Given the description of an element on the screen output the (x, y) to click on. 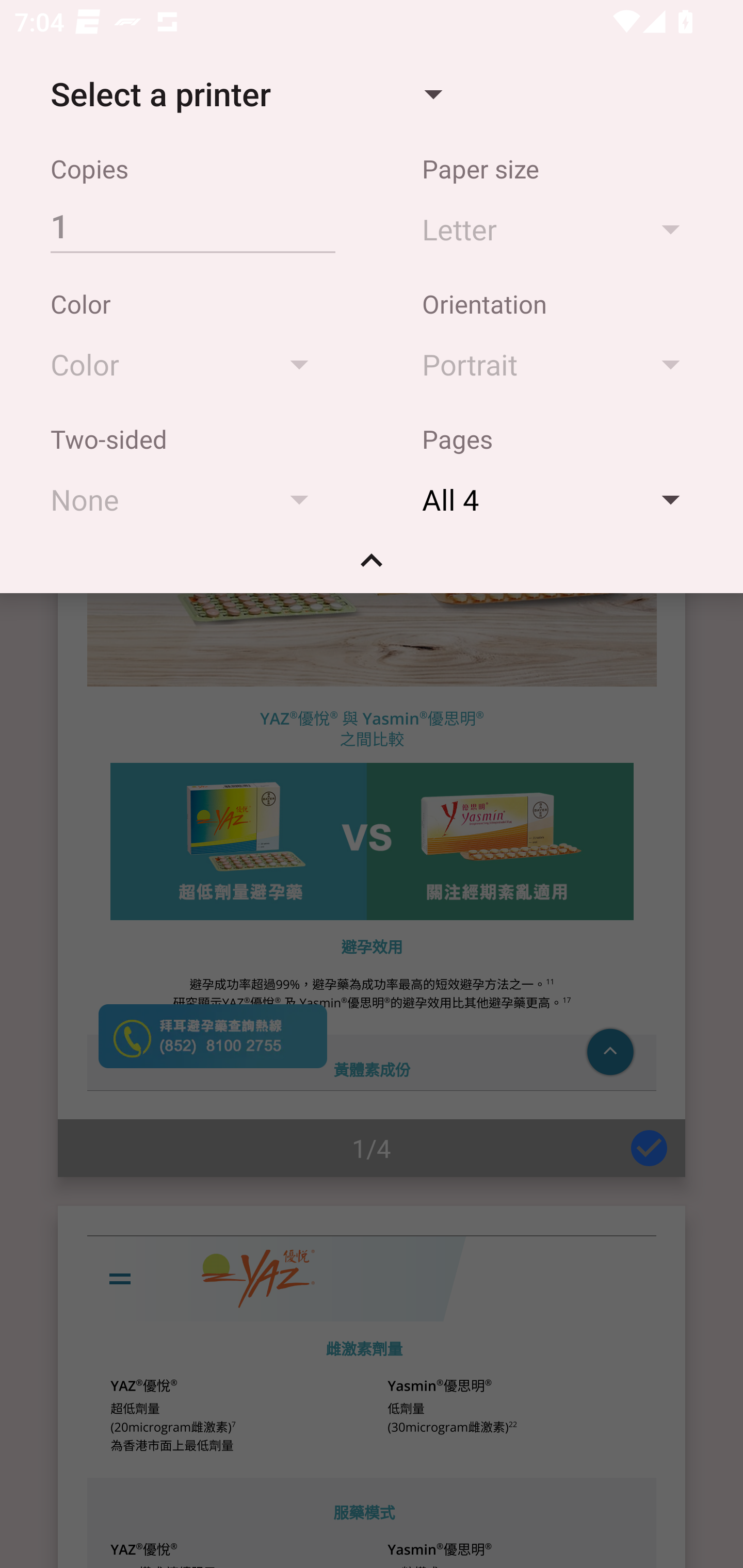
Select a printer (245, 93)
1 (192, 225)
Letter (560, 228)
Color (189, 364)
Portrait (560, 364)
None (189, 499)
All 4 (560, 499)
Collapse handle (371, 567)
